Given the description of an element on the screen output the (x, y) to click on. 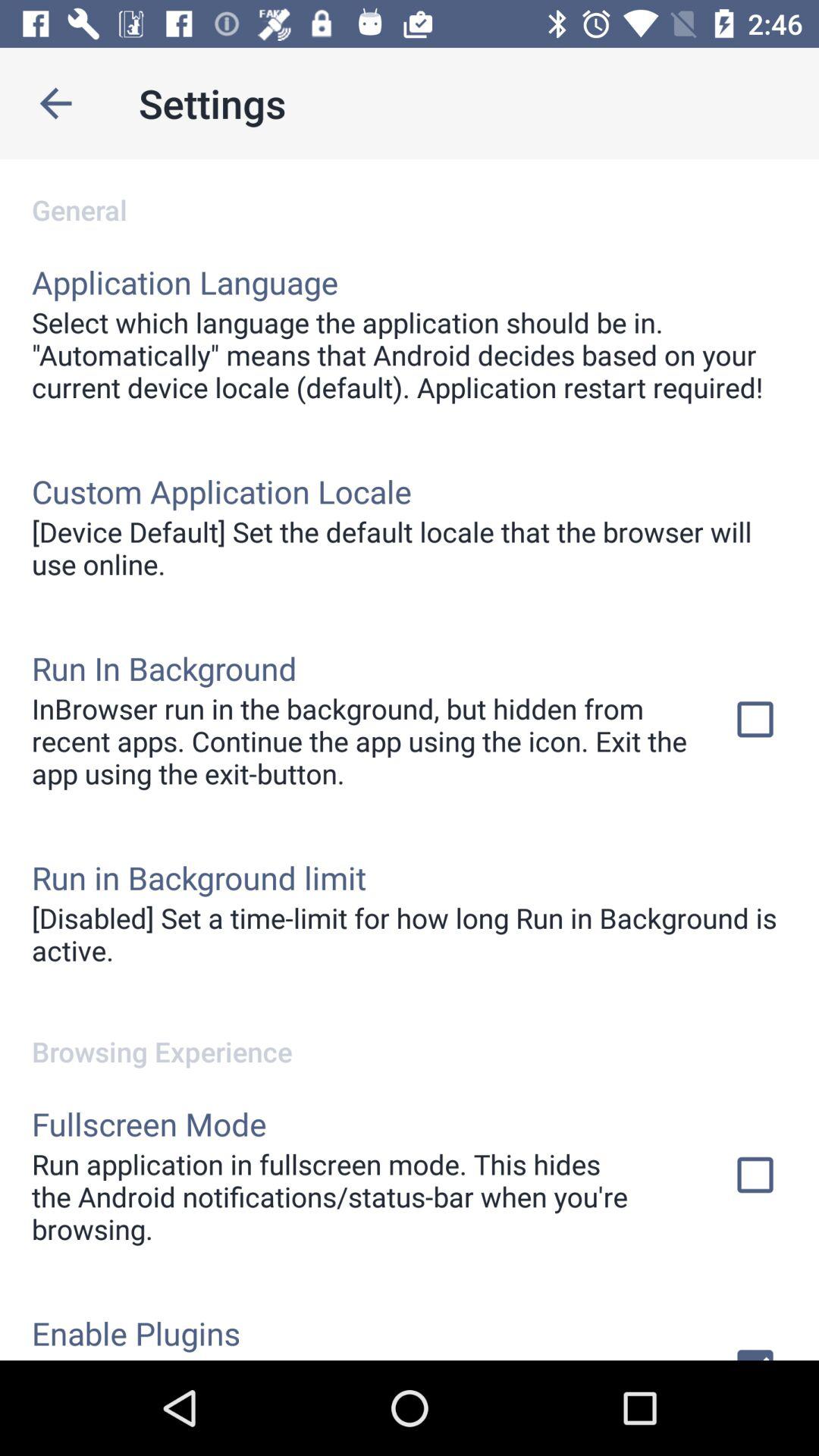
jump until general icon (409, 193)
